Given the description of an element on the screen output the (x, y) to click on. 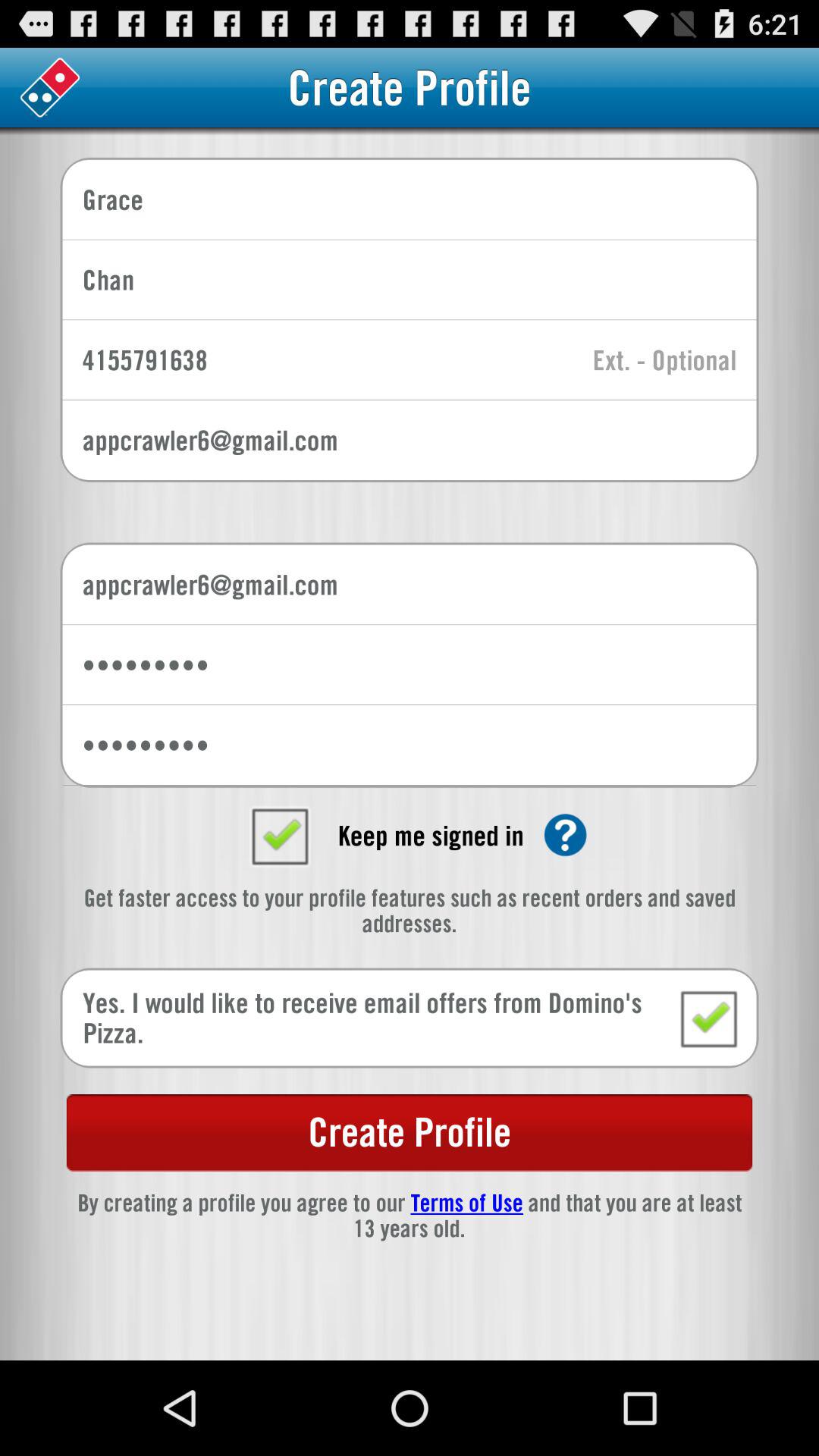
select entry field (664, 361)
